Given the description of an element on the screen output the (x, y) to click on. 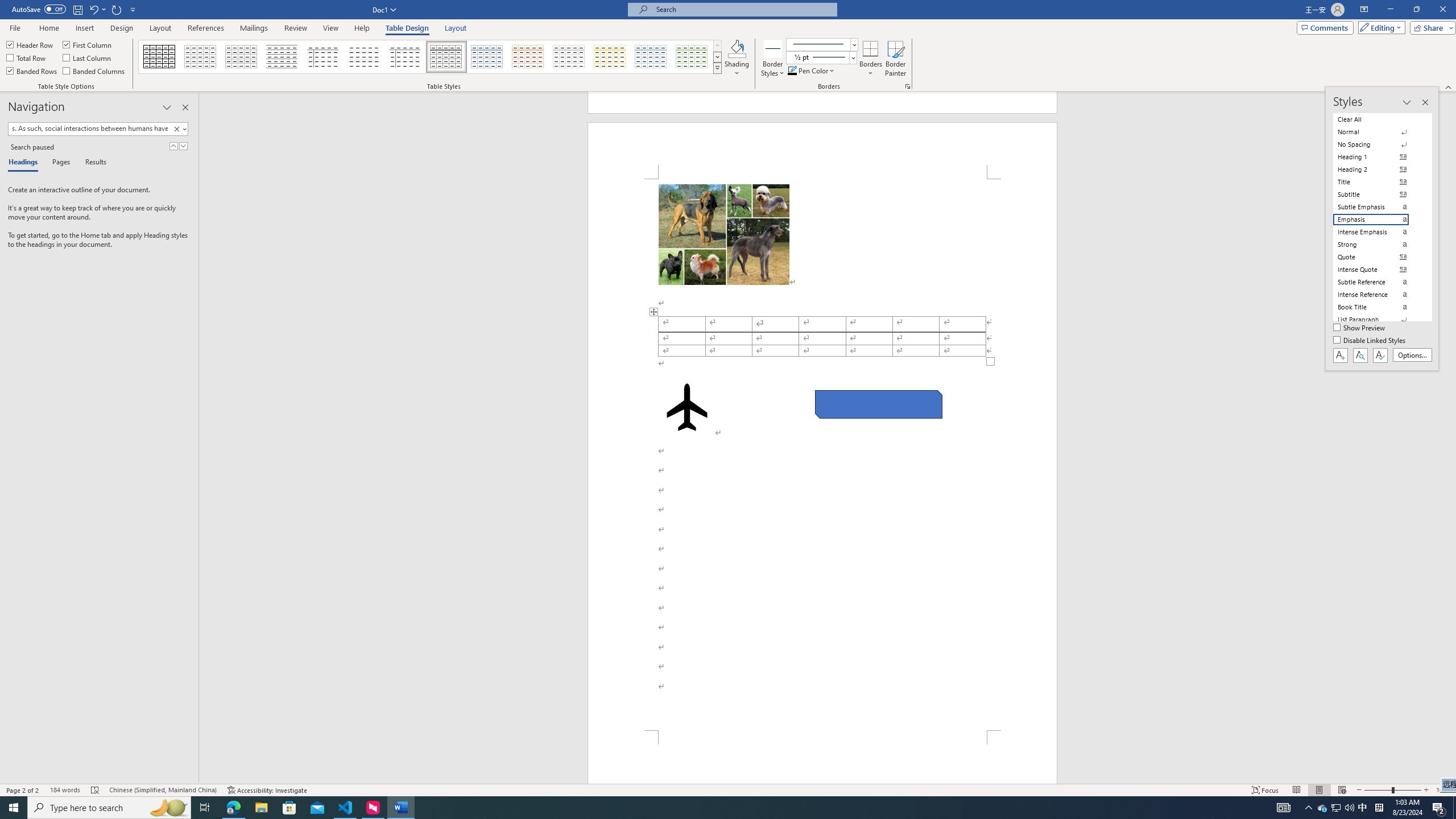
Table Grid Light (200, 56)
Clear (176, 128)
Banded Columns (94, 69)
Class: MsoCommandBar (728, 45)
Last Column (88, 56)
Morphological variation in six dogs (723, 234)
Microsoft search (742, 9)
Pen Weight (821, 56)
Book Title (1377, 306)
